Given the description of an element on the screen output the (x, y) to click on. 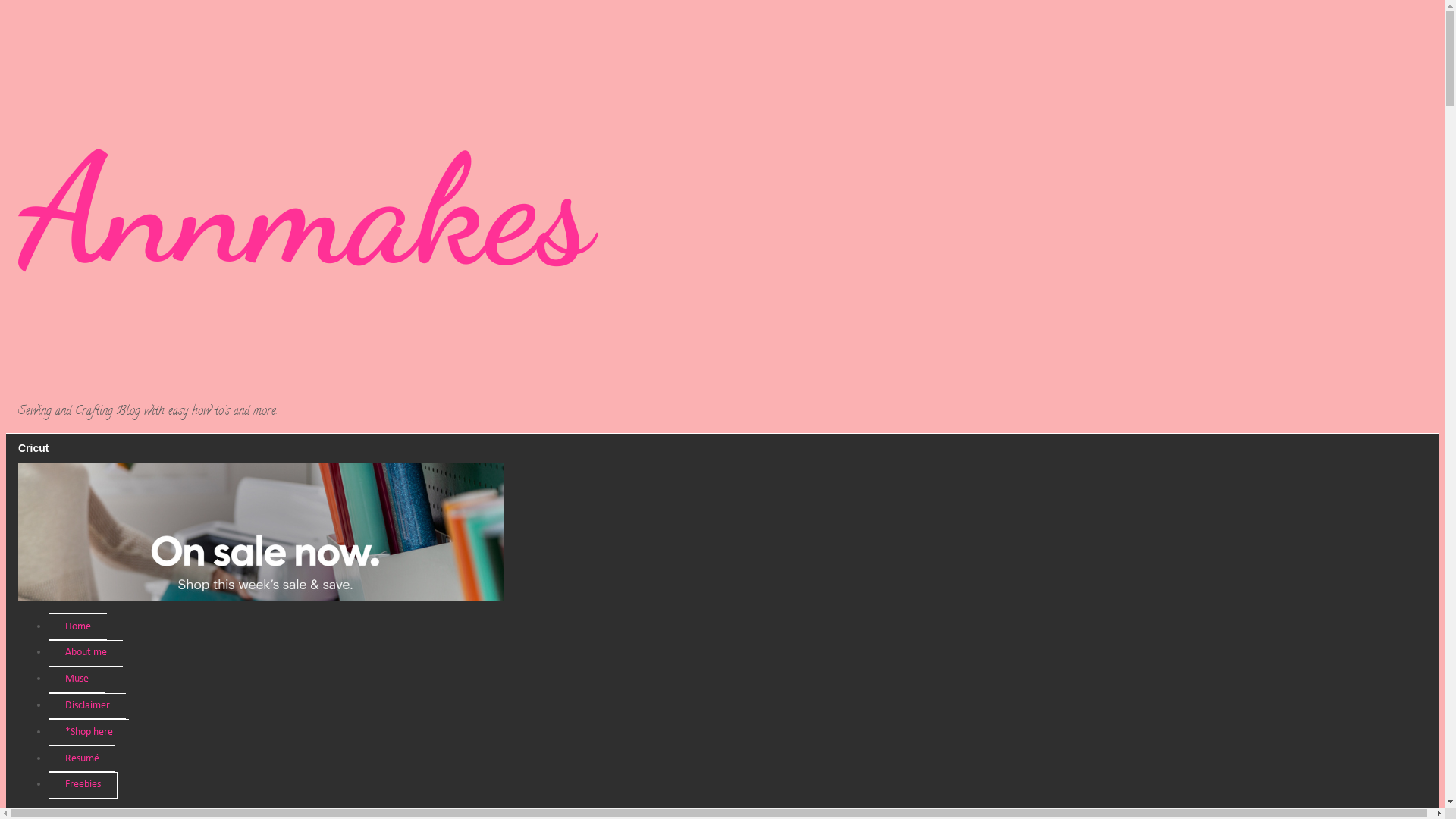
Home Element type: text (77, 626)
Disclaimer Element type: text (86, 706)
Muse Element type: text (76, 679)
Annmakes Element type: text (305, 210)
*Shop here Element type: text (88, 731)
Freebies Element type: text (82, 784)
About me Element type: text (85, 653)
